Given the description of an element on the screen output the (x, y) to click on. 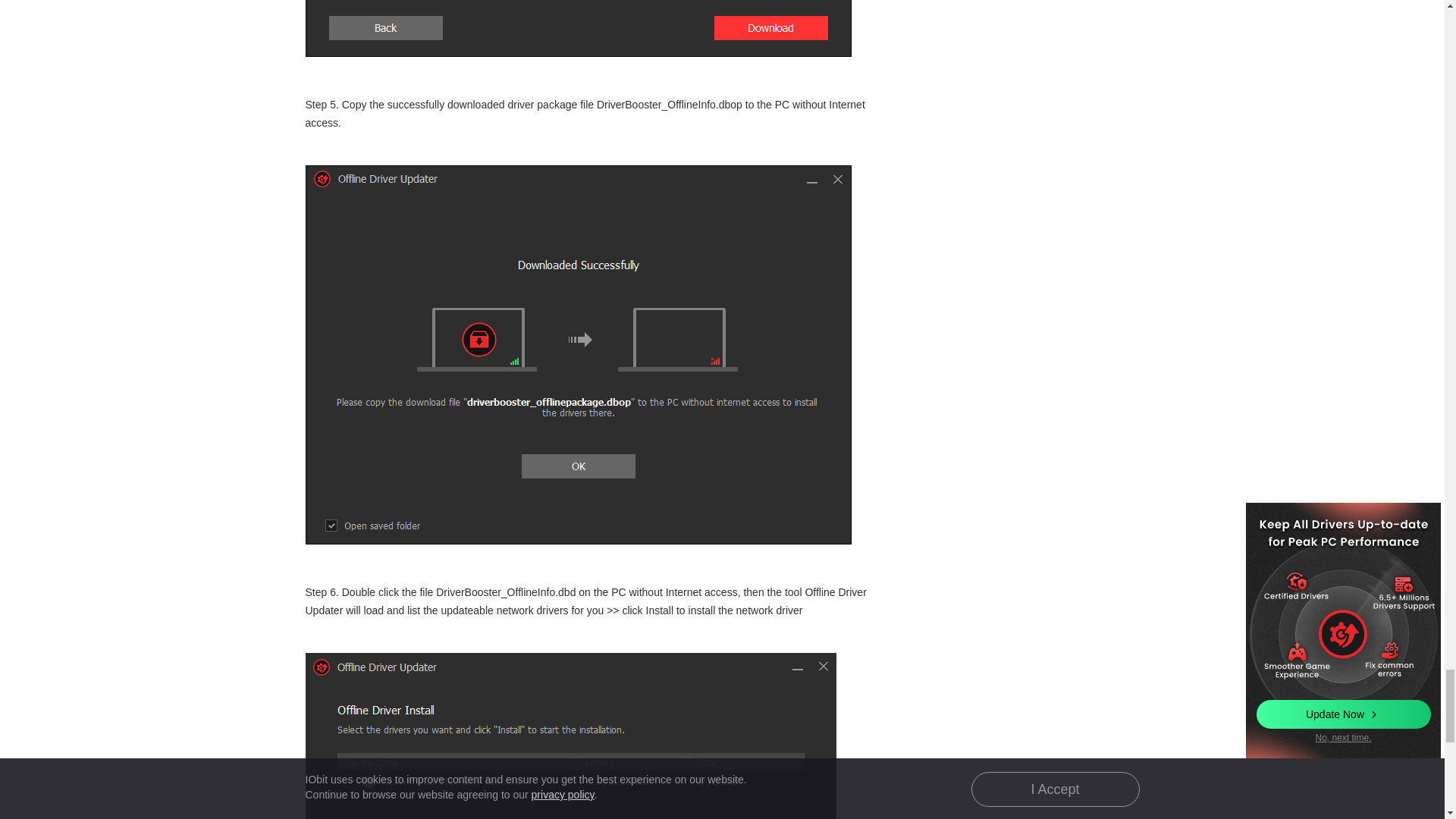
1599728217551246.png (569, 735)
1599728097843553.png (577, 28)
